Given the description of an element on the screen output the (x, y) to click on. 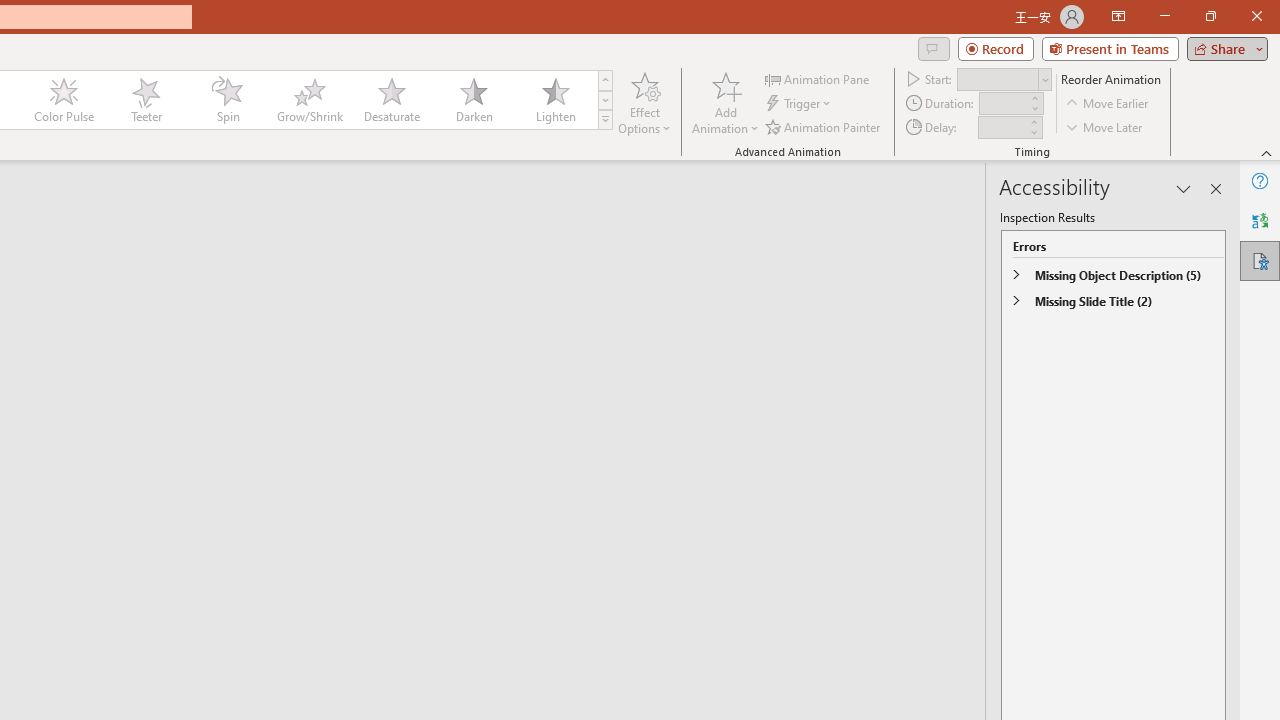
Animation Styles (605, 120)
Animation Pane (818, 78)
Color Pulse (63, 100)
Spin (227, 100)
Teeter (145, 100)
Move Earlier (1107, 103)
Desaturate (391, 100)
